Given the description of an element on the screen output the (x, y) to click on. 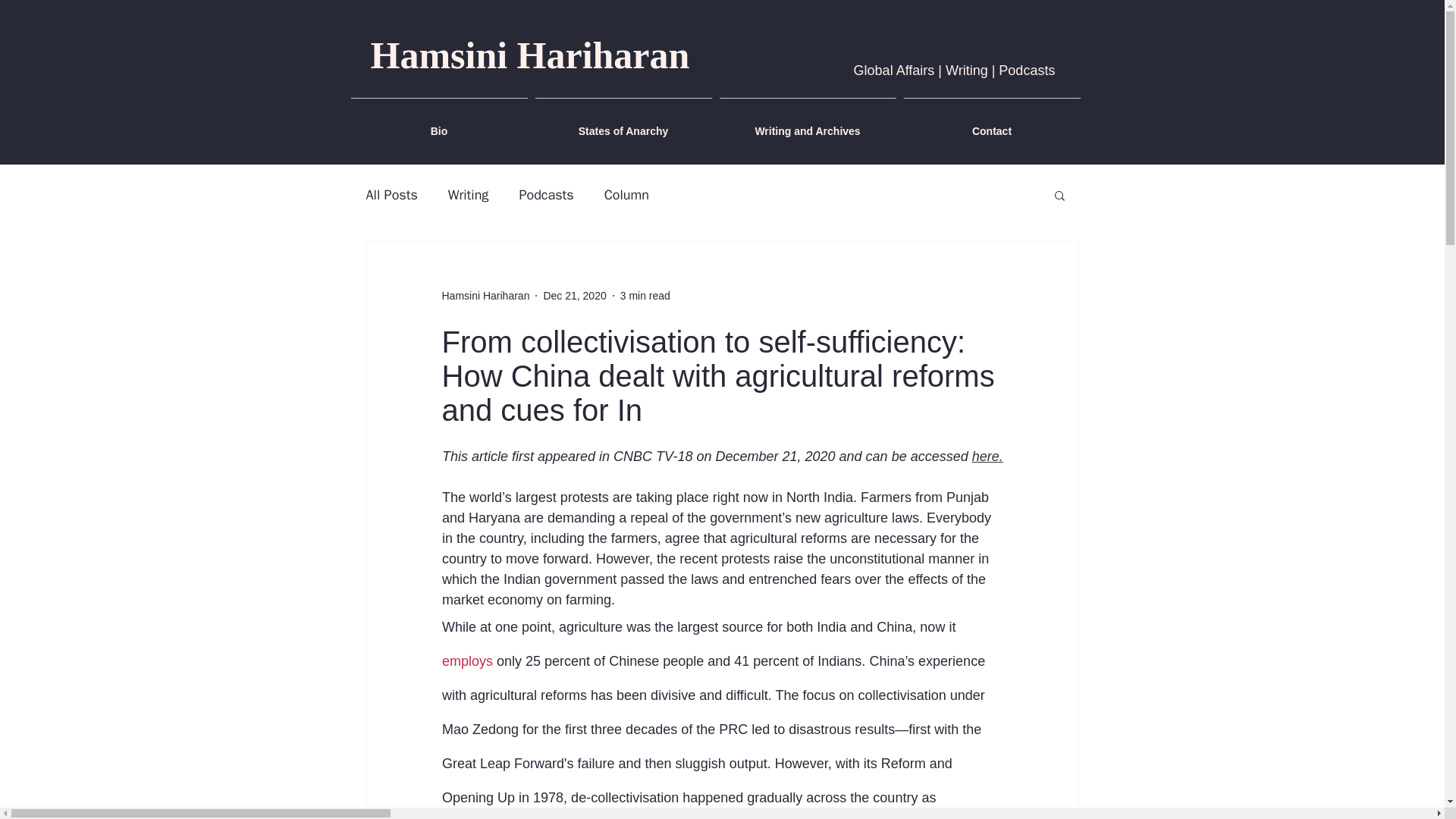
All Posts (390, 194)
Column (626, 194)
3 min read (644, 295)
Hamsini Hariharan (485, 295)
Writing (468, 194)
Contact (991, 123)
Podcasts (545, 194)
Bio (439, 123)
Dec 21, 2020 (574, 295)
Writing and Archives (807, 123)
